Given the description of an element on the screen output the (x, y) to click on. 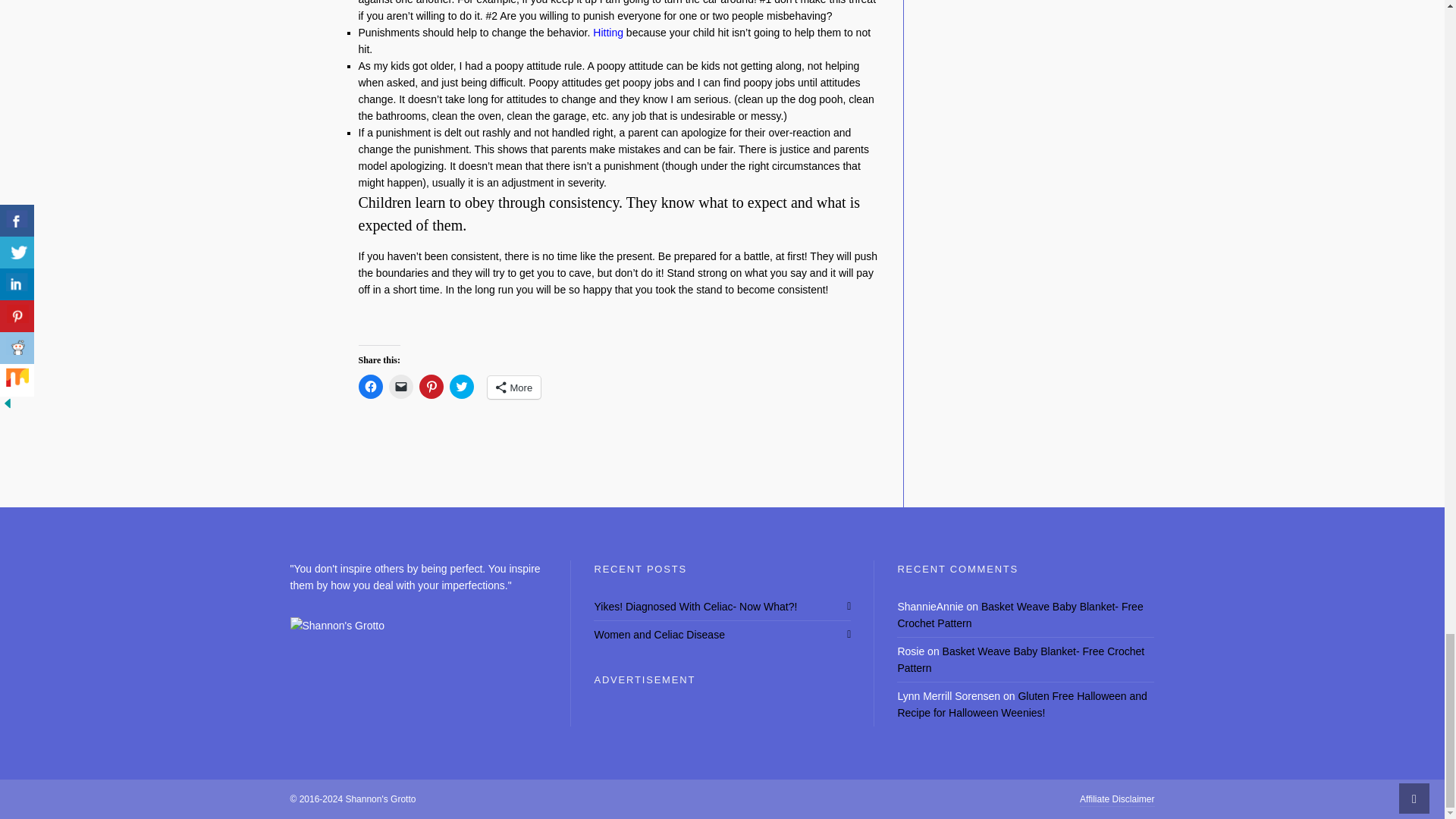
Click to email a link to a friend (400, 386)
Click to share on Facebook (369, 386)
Click to share on Pinterest (430, 386)
Click to share on Twitter (460, 386)
